Given the description of an element on the screen output the (x, y) to click on. 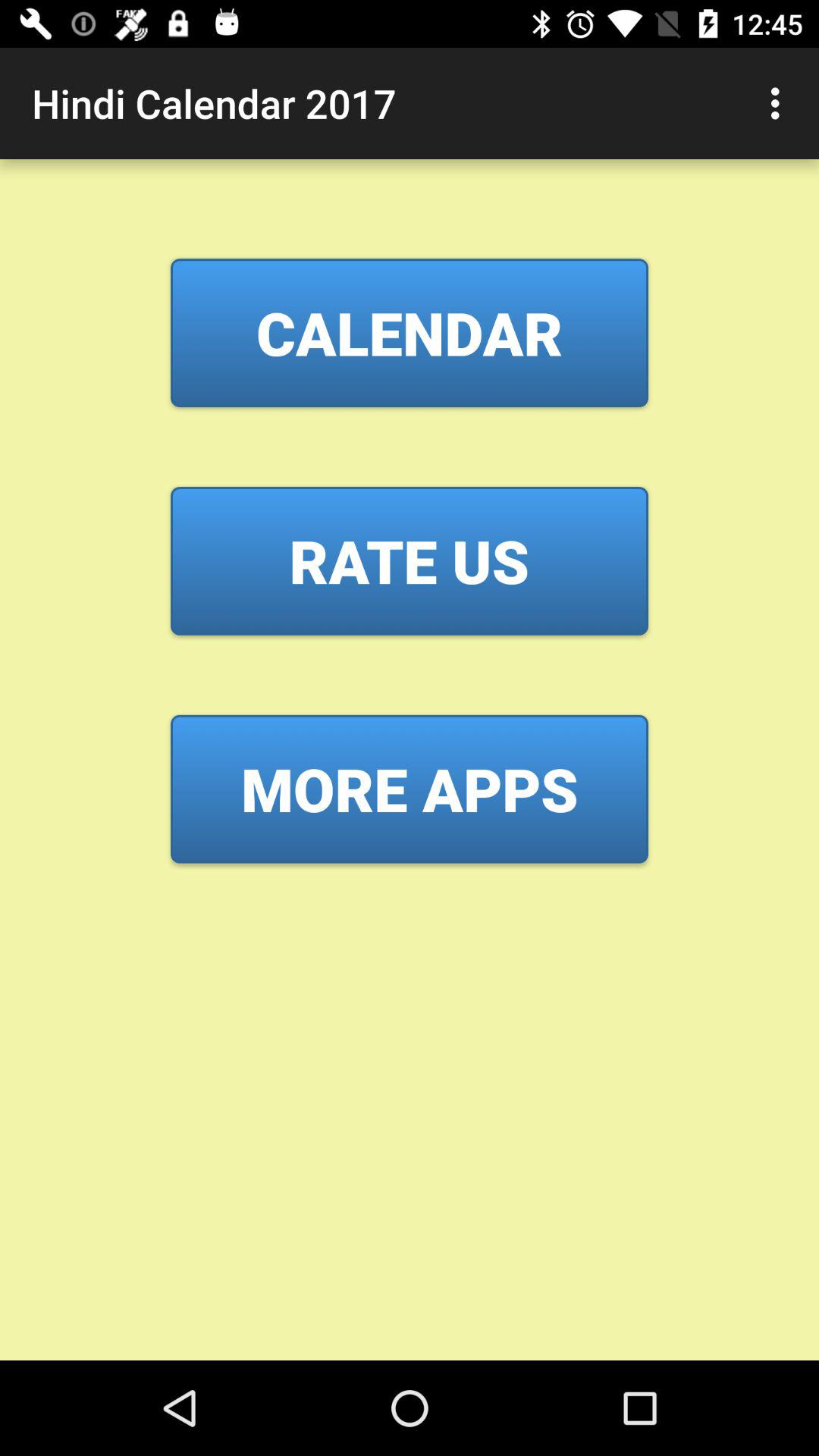
select the item below calendar item (409, 560)
